Given the description of an element on the screen output the (x, y) to click on. 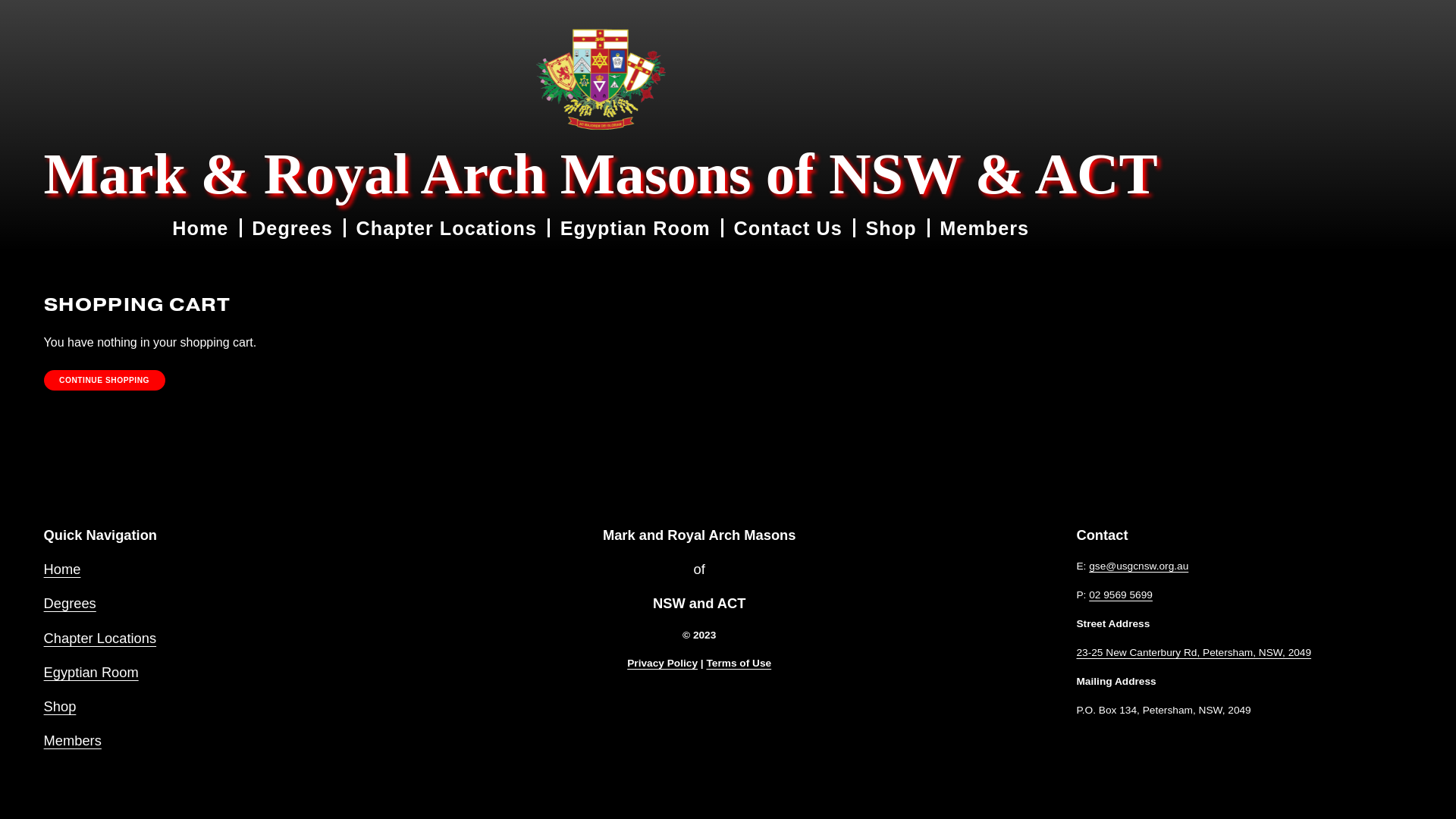
Contact Us Element type: text (788, 227)
Degrees Element type: text (291, 227)
Chapter Locations Element type: text (99, 638)
CONTINUE SHOPPING Element type: text (104, 380)
02 9569 5699 Element type: text (1120, 594)
Chapter Locations Element type: text (446, 227)
Terms of Use Element type: text (738, 663)
Privacy Policy Element type: text (662, 663)
23-25 New Canterbury Rd, Petersham, NSW, 2049 Element type: text (1193, 652)
Shop Element type: text (891, 227)
Egyptian Room Element type: text (90, 672)
Home Element type: text (62, 569)
Degrees Element type: text (69, 603)
Egyptian Room Element type: text (635, 227)
Home Element type: text (200, 227)
Members Element type: text (72, 740)
gse@usgcnsw.org.au Element type: text (1138, 566)
Shop Element type: text (59, 706)
Members Element type: text (984, 227)
